Given the description of an element on the screen output the (x, y) to click on. 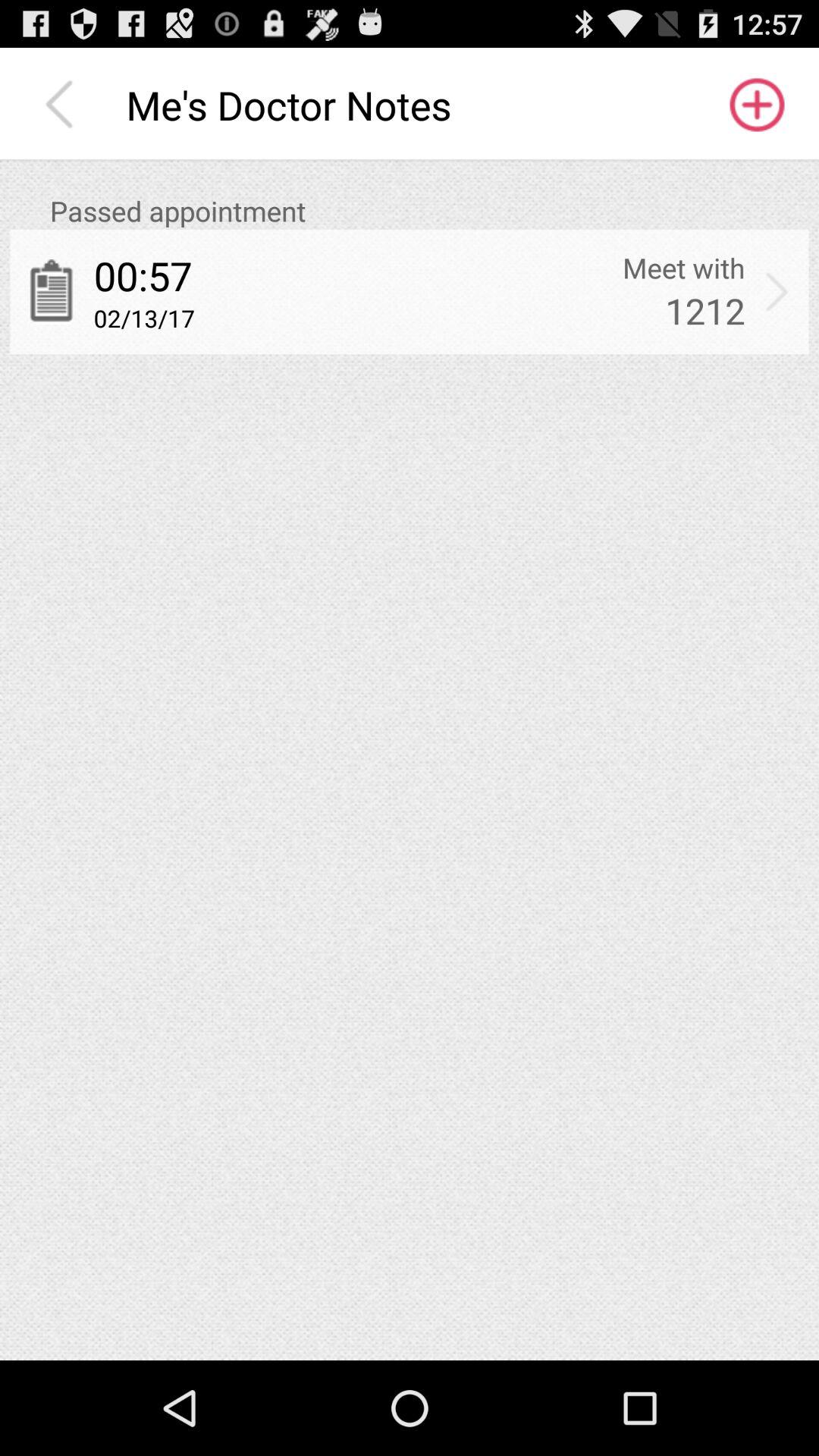
select the app above the passed appointment item (63, 104)
